Given the description of an element on the screen output the (x, y) to click on. 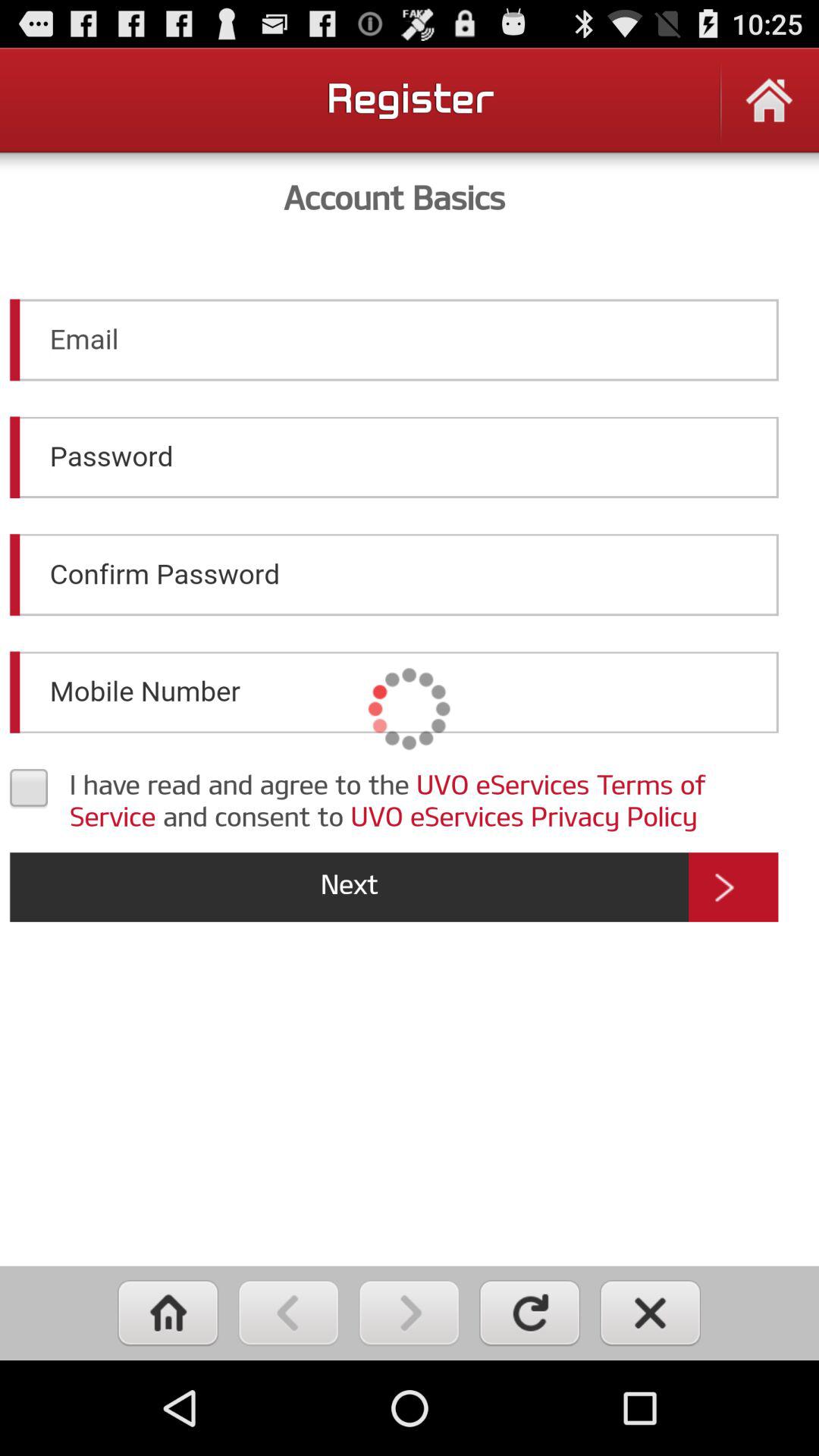
forward button on phone browser (408, 1313)
